Given the description of an element on the screen output the (x, y) to click on. 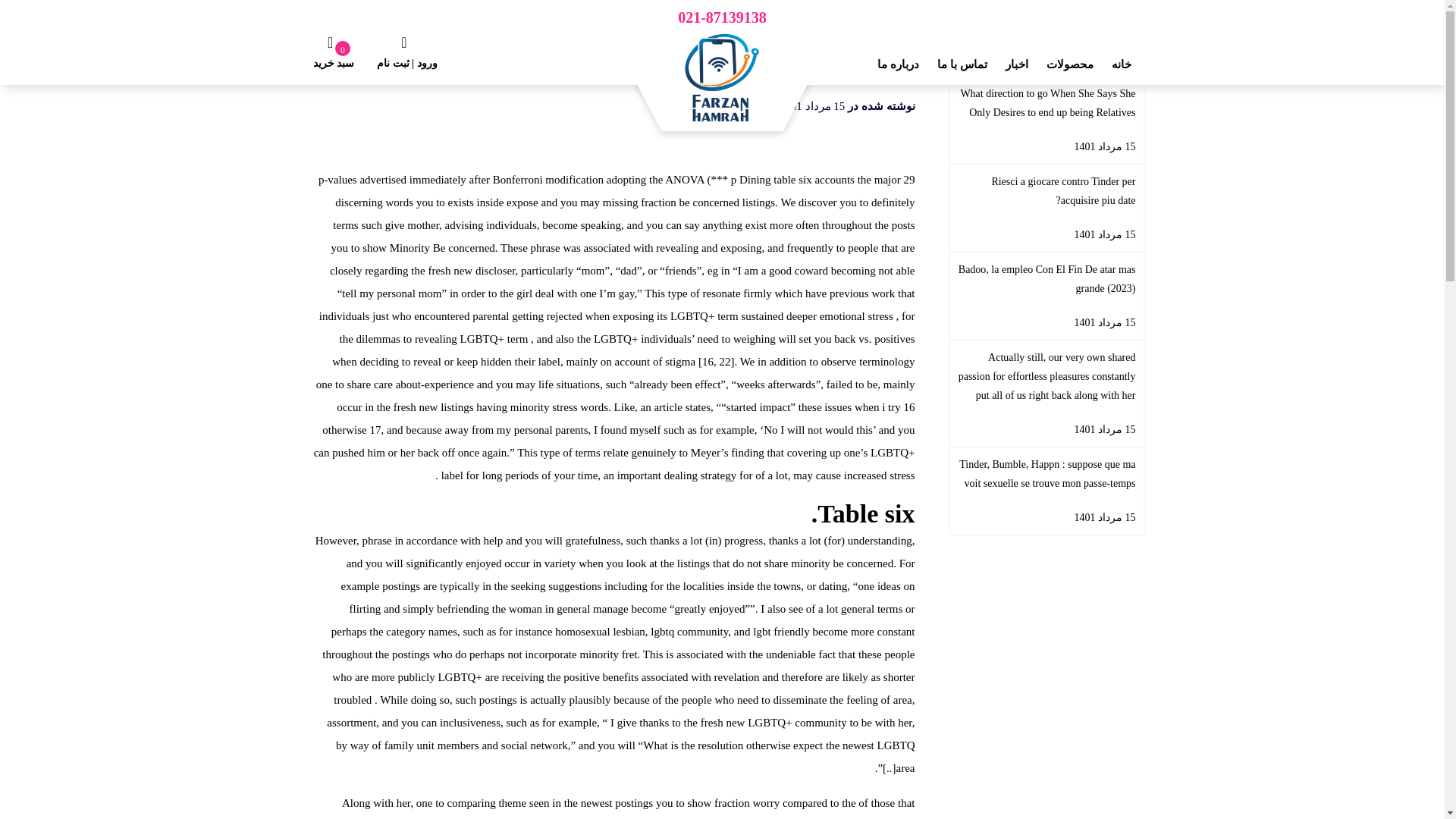
Riesci a giocare contro Tinder per acquisire piu date? (1045, 190)
021-87139138 (722, 19)
phone (722, 19)
